Given the description of an element on the screen output the (x, y) to click on. 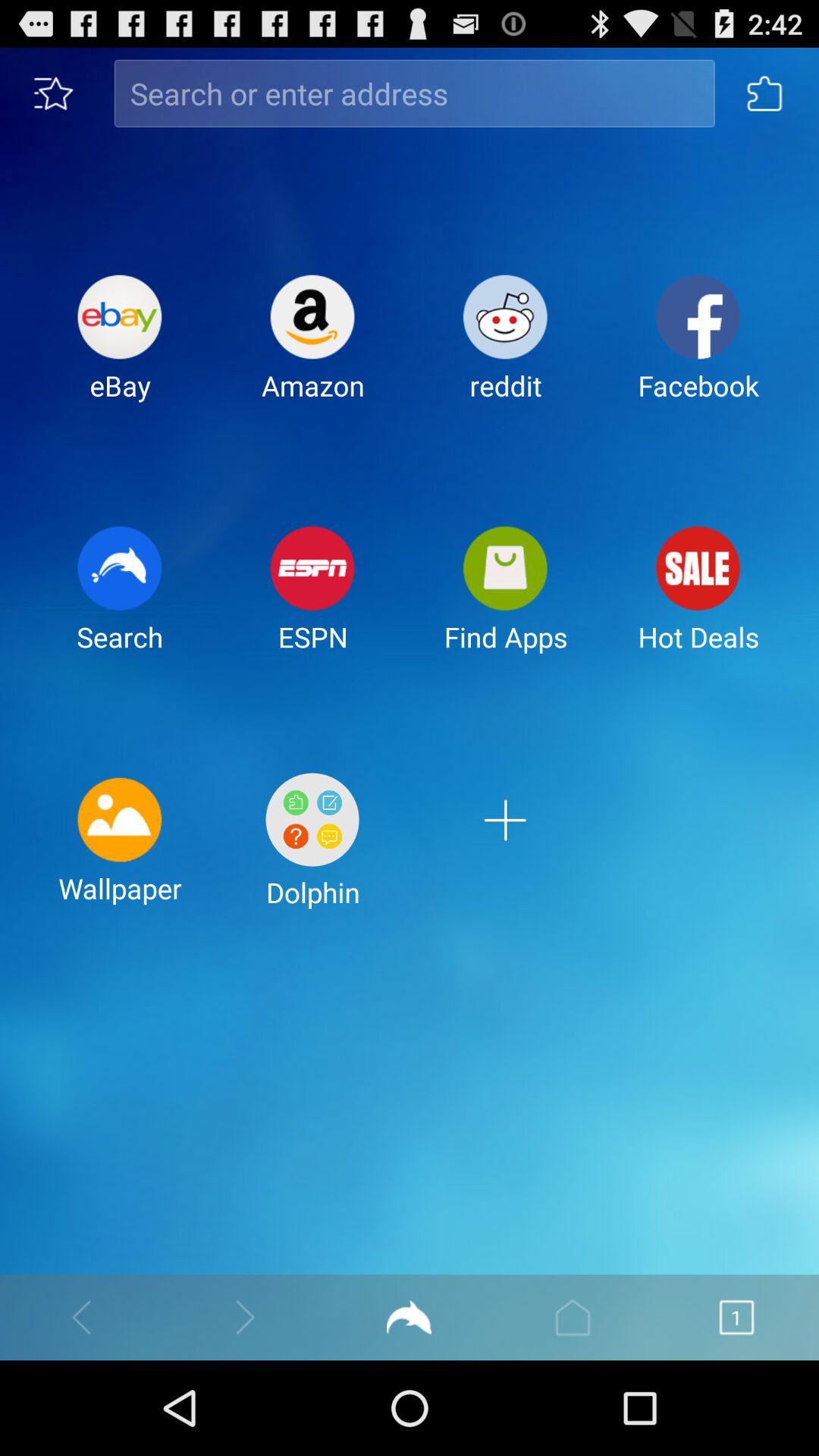
choose the icon next to the dolphin icon (119, 852)
